Given the description of an element on the screen output the (x, y) to click on. 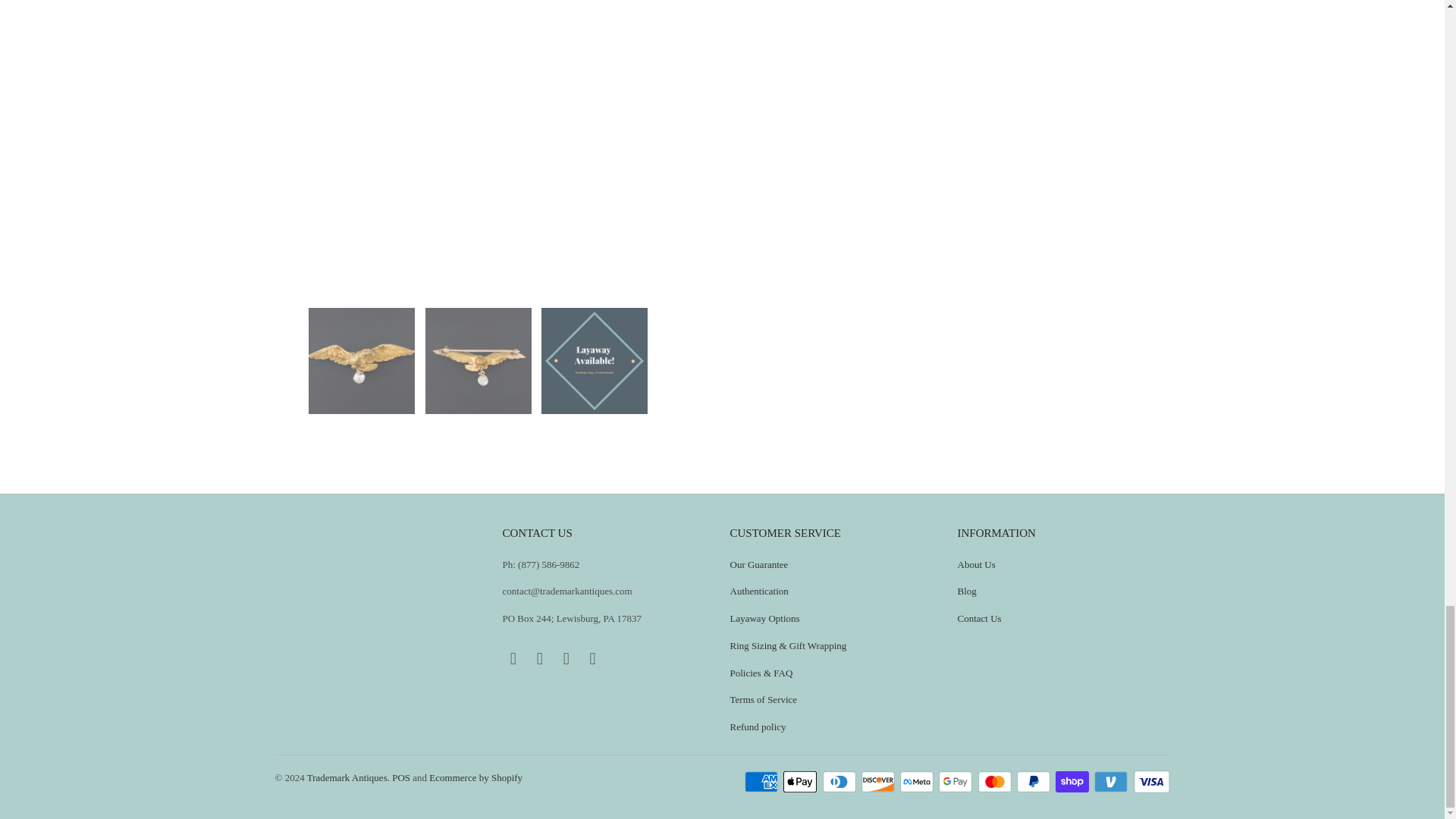
Visa (1150, 781)
Trademark Antiques on Facebook (513, 659)
Trademark Antiques on Pinterest (539, 659)
Meta Pay (917, 781)
Diners Club (840, 781)
Google Pay (957, 781)
PayPal (1034, 781)
Mastercard (996, 781)
Apple Pay (801, 781)
Venmo (1112, 781)
